Given the description of an element on the screen output the (x, y) to click on. 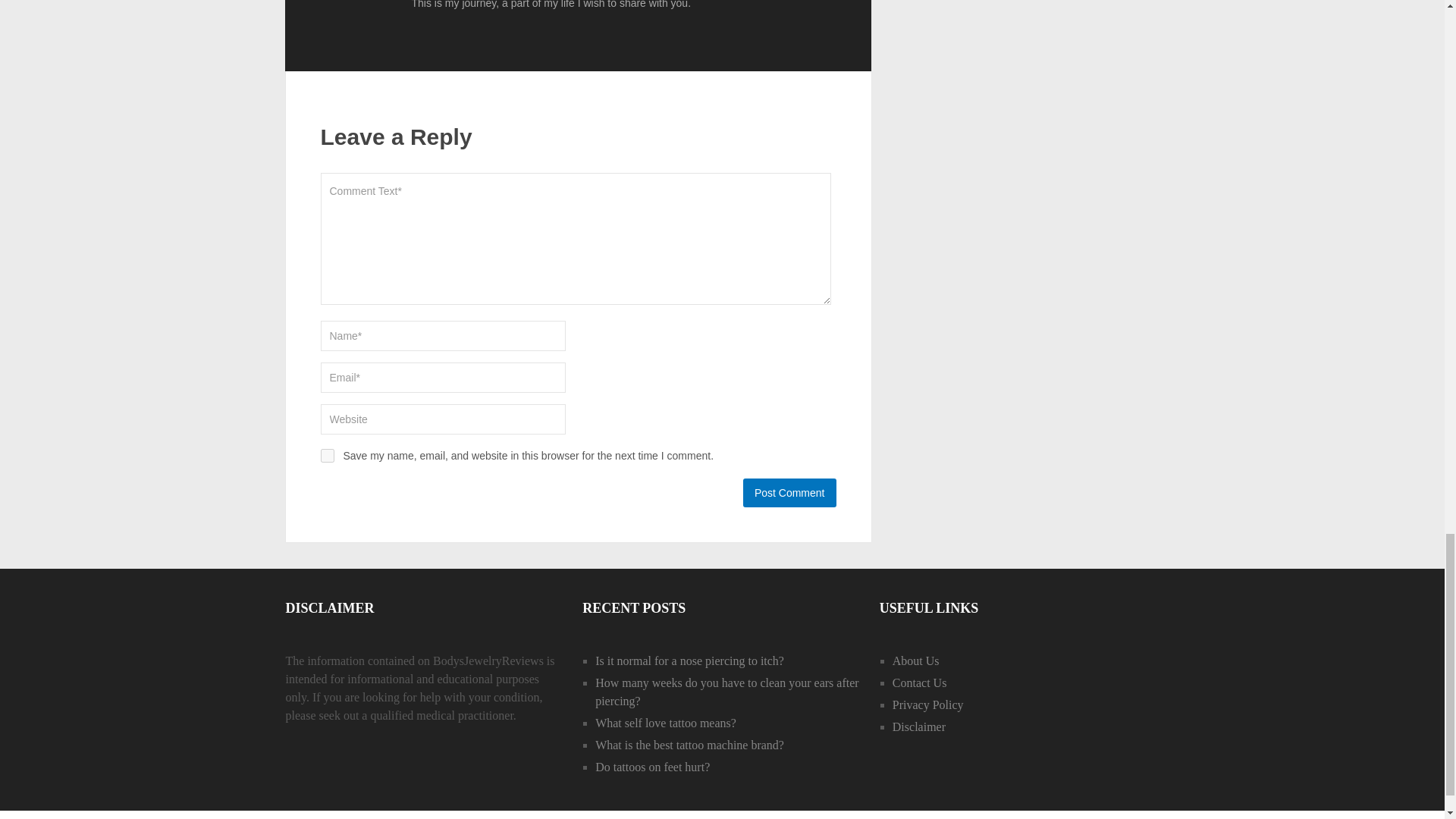
yes (326, 455)
Post Comment (788, 492)
Is it normal for a nose piercing to itch? (689, 660)
Post Comment (788, 492)
What self love tattoo means? (665, 722)
What is the best tattoo machine brand? (689, 744)
